Given the description of an element on the screen output the (x, y) to click on. 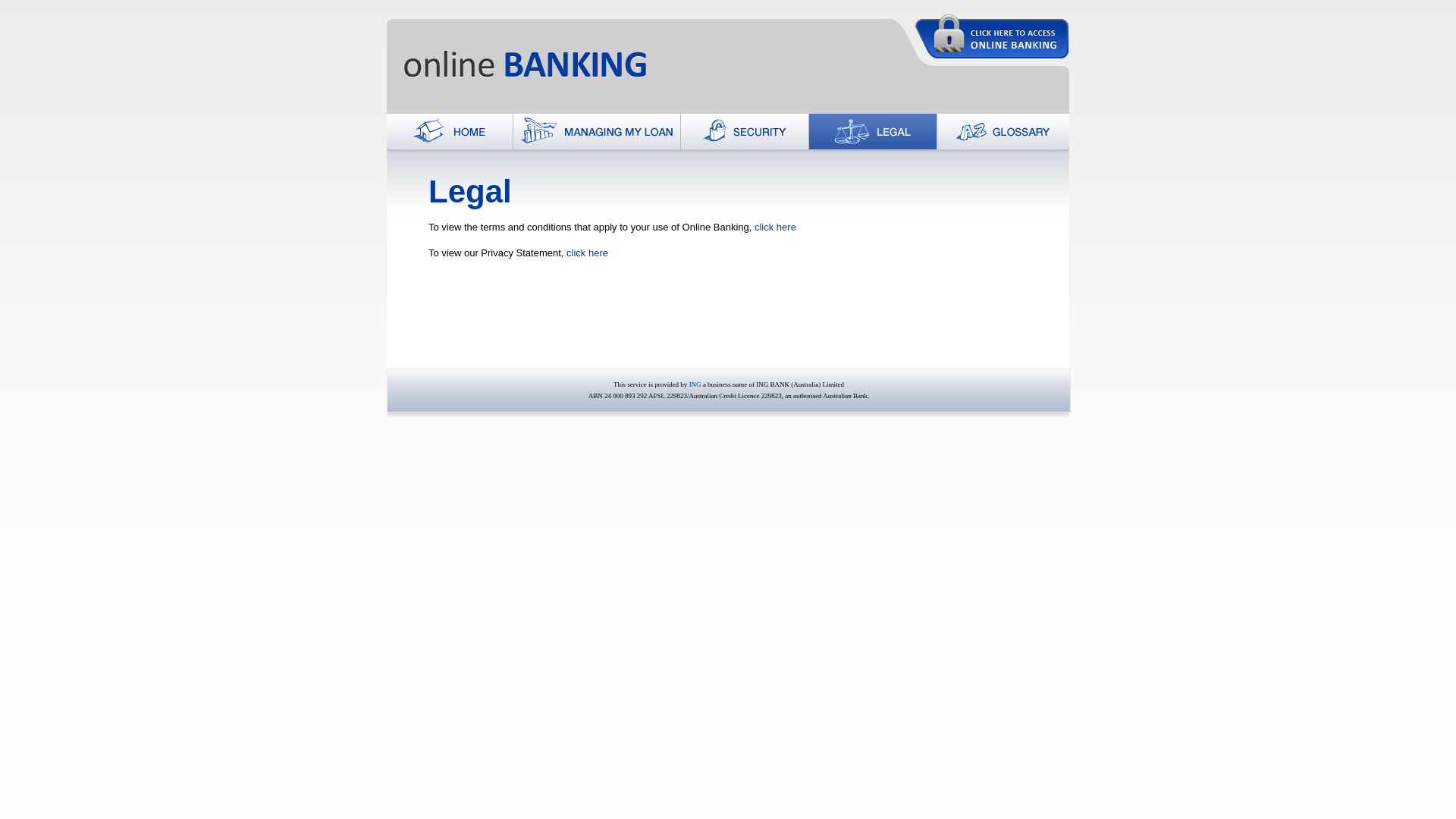
click here Element type: text (587, 252)
click here Element type: text (775, 226)
Client access to online banking Element type: hover (992, 35)
ING Element type: text (695, 384)
